Given the description of an element on the screen output the (x, y) to click on. 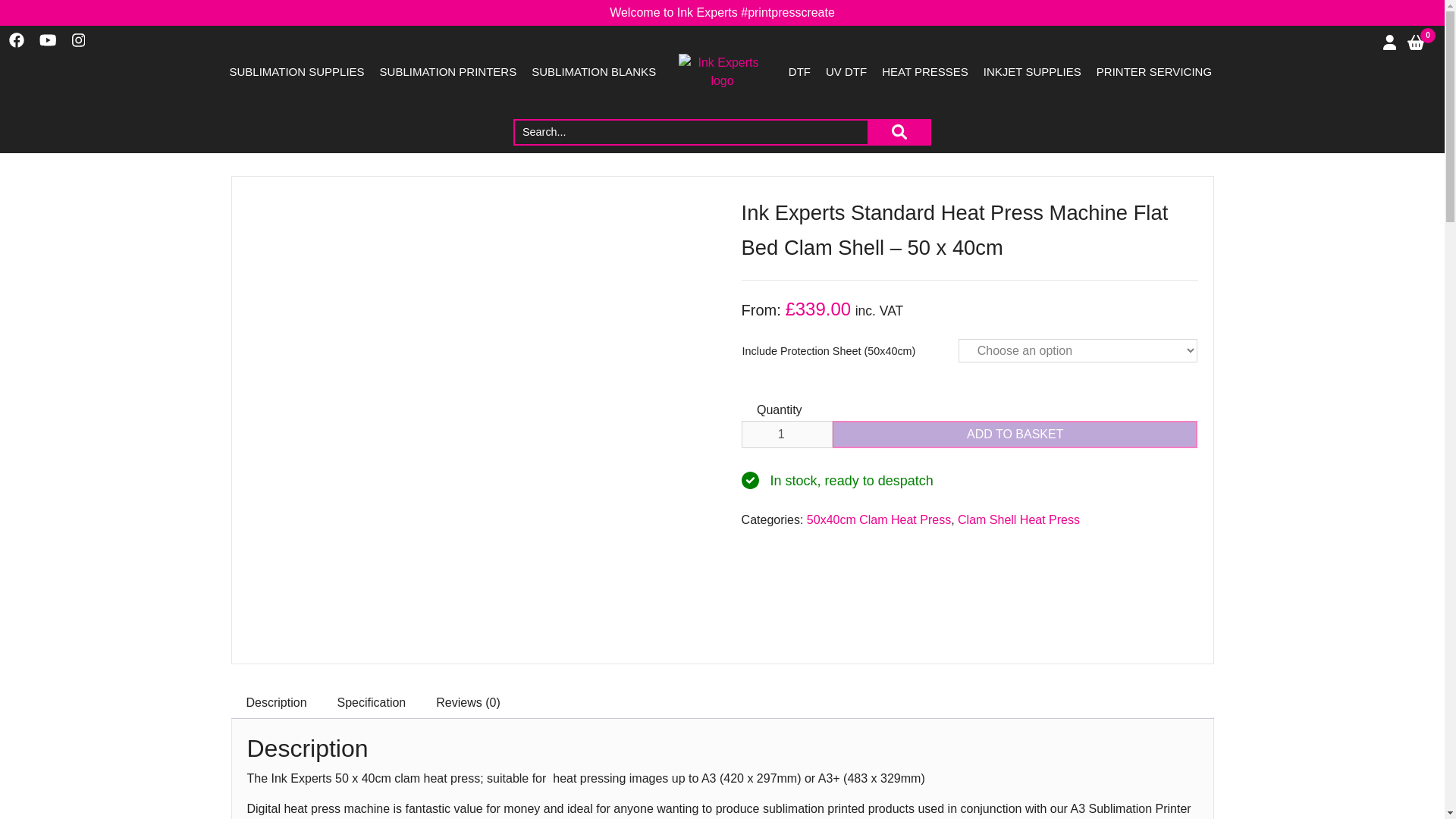
0 (1417, 43)
Search (900, 131)
1 (786, 433)
Search for: (691, 131)
SUBLIMATION SUPPLIES (296, 72)
